Given the description of an element on the screen output the (x, y) to click on. 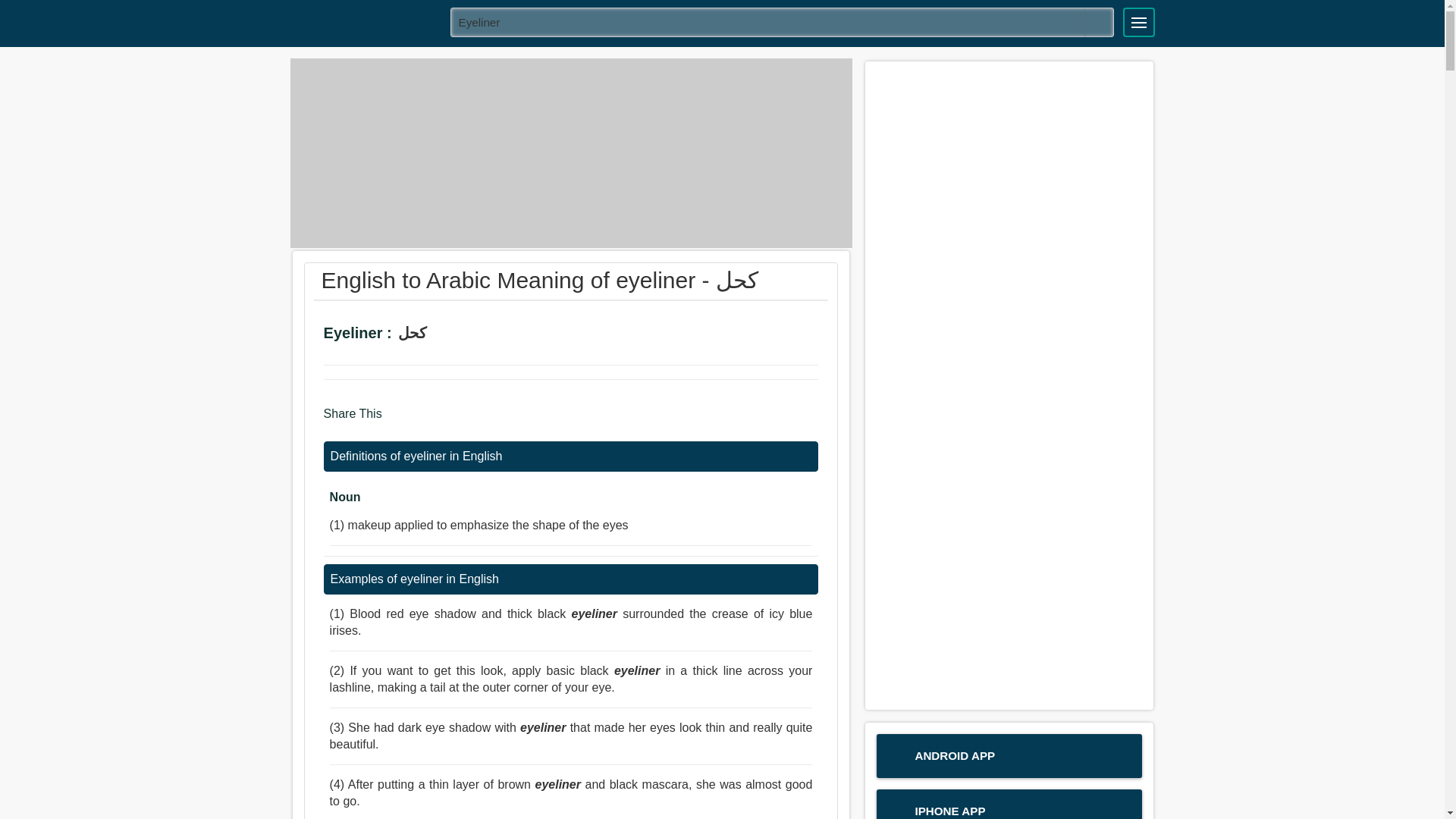
Twitter (428, 420)
ARABIC (365, 20)
eyeliner (782, 21)
More Share (485, 420)
Add To Favorites (493, 334)
Linkedin (458, 420)
Say The Word (452, 334)
Facebook (398, 420)
Search (1098, 22)
